Given the description of an element on the screen output the (x, y) to click on. 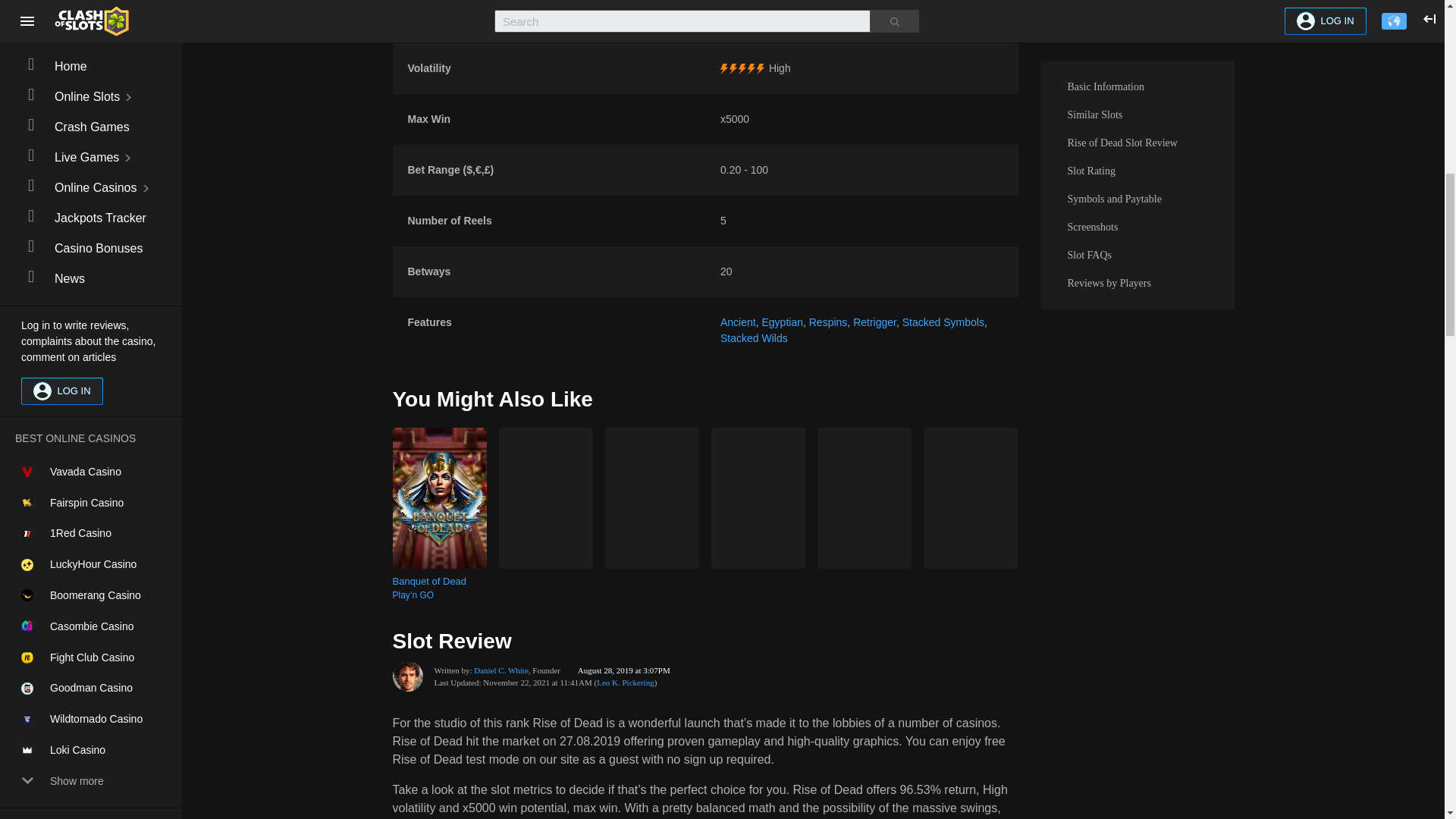
Slot FAQs (1137, 52)
Symbols and Paytable (1137, 5)
Screenshots (1137, 24)
Reviews by Players (1137, 80)
